Given the description of an element on the screen output the (x, y) to click on. 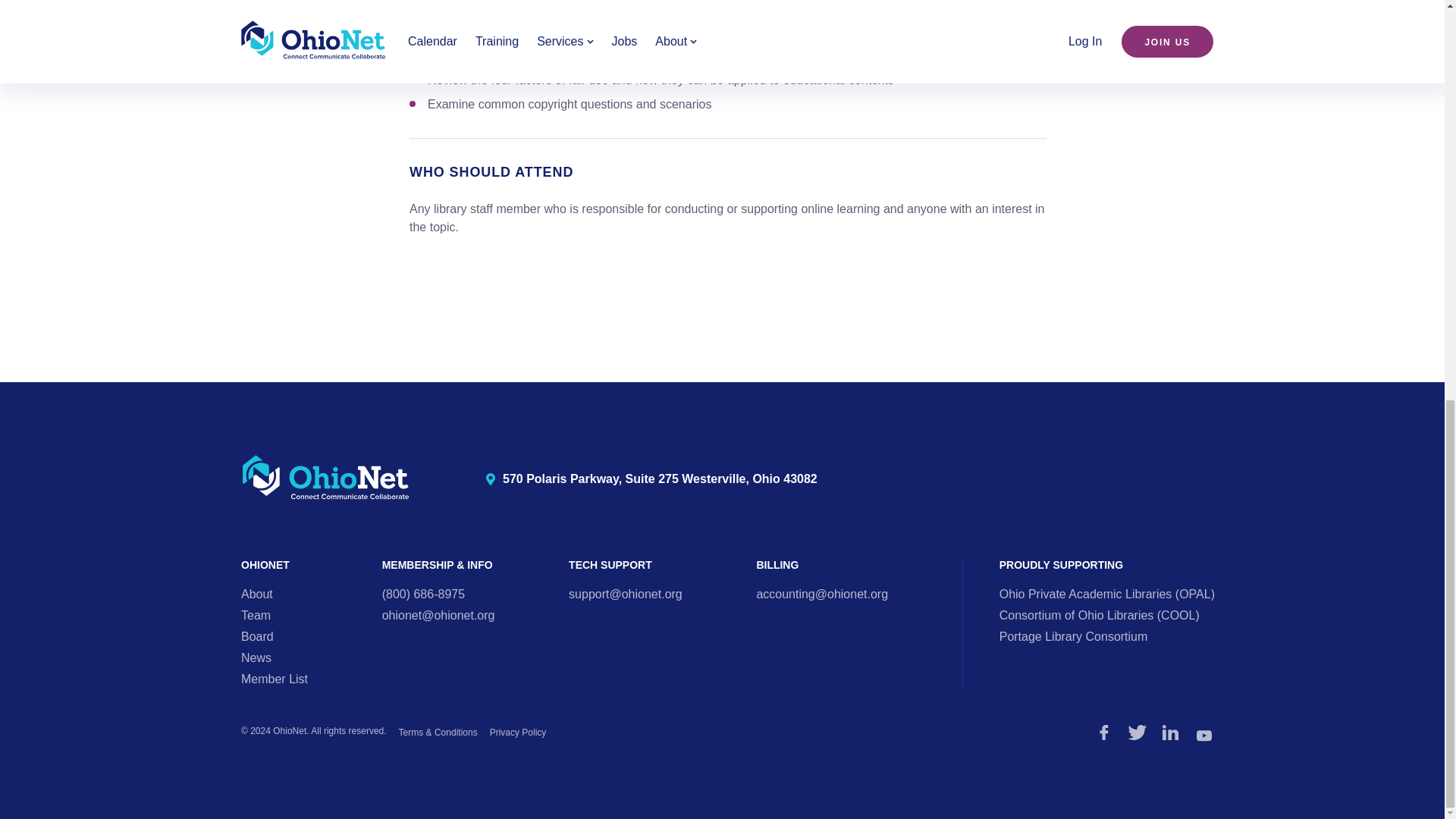
Facebook (1104, 732)
Team (255, 615)
OhioNET - Connect, Communicate, Collaborate. (326, 479)
LinkedIn (1170, 732)
Twitter (1137, 732)
OhioNET - Connect, Communicate, Collaborate. (650, 479)
Member List (326, 477)
About (274, 678)
Board (257, 594)
YouTube (257, 635)
News (1203, 735)
